Given the description of an element on the screen output the (x, y) to click on. 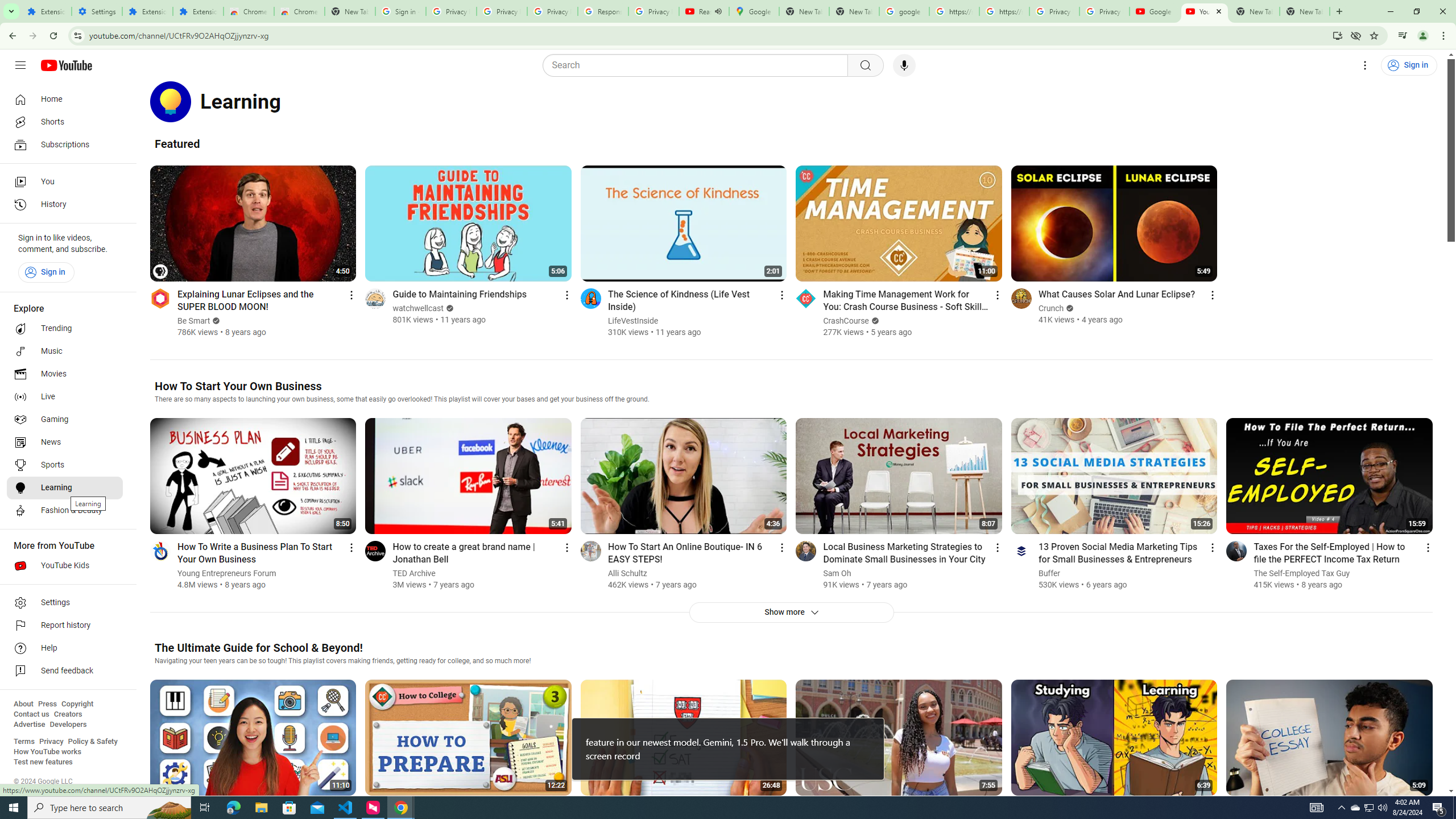
Settings (1365, 65)
Extensions (146, 11)
Settings (64, 602)
